Given the description of an element on the screen output the (x, y) to click on. 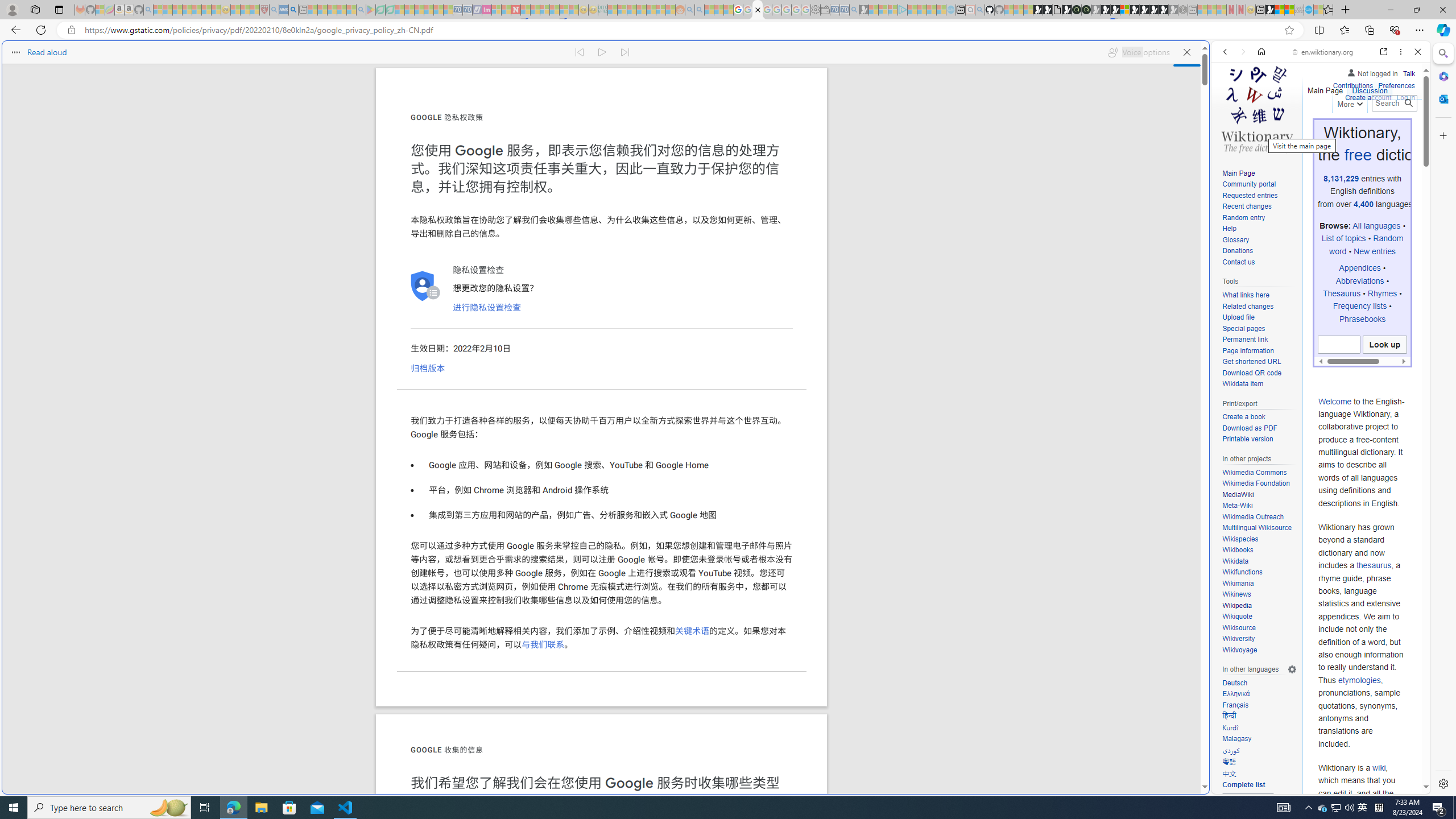
Printable version (1247, 438)
163 more (1247, 801)
en.wiktionary.org (1323, 51)
Wikifunctions (1259, 572)
Abbreviations (1359, 280)
